Given the description of an element on the screen output the (x, y) to click on. 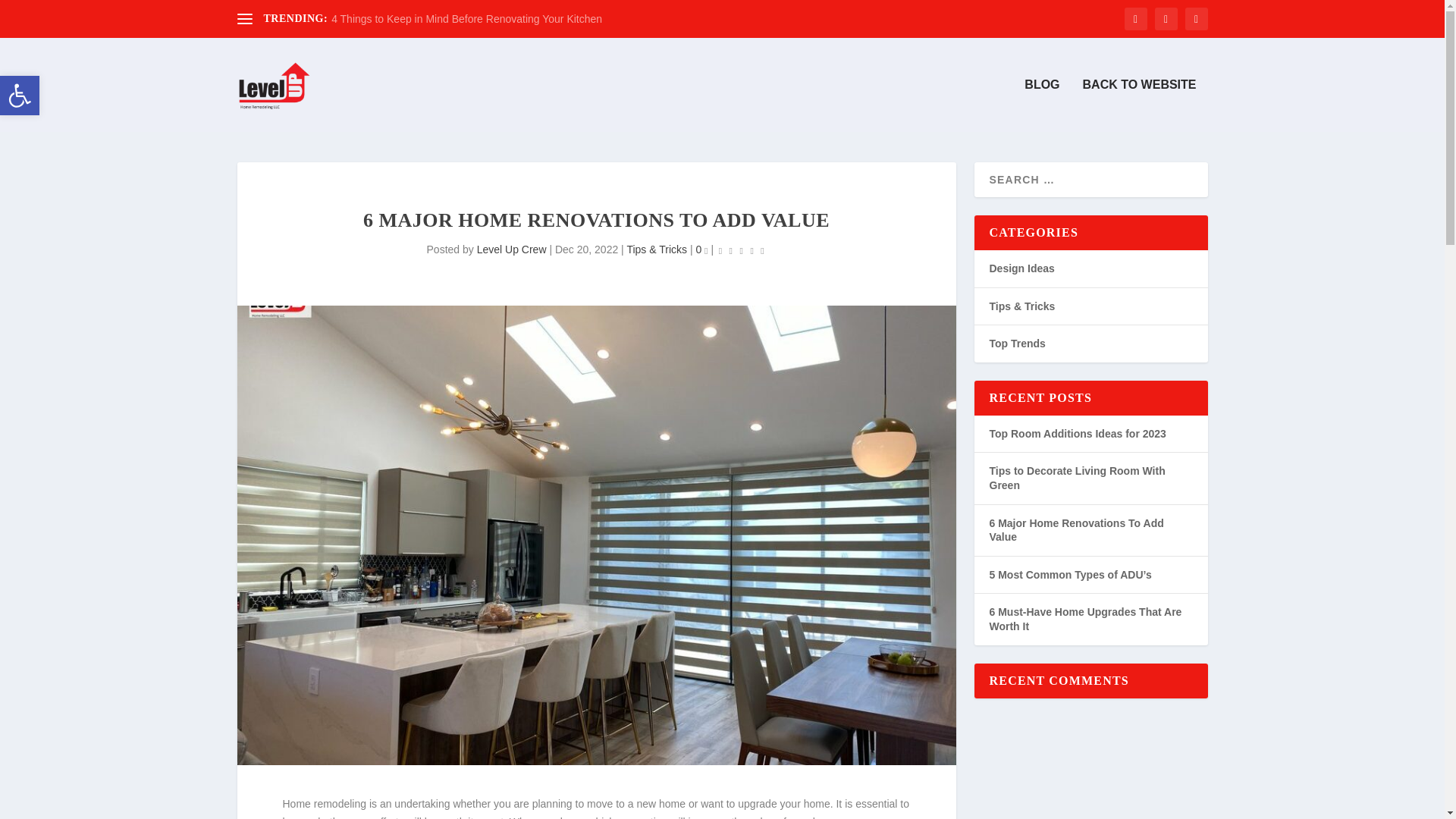
4 Things to Keep in Mind Before Renovating Your Kitchen (466, 19)
0 (701, 249)
Open toolbar (19, 95)
Posts by Level Up Crew (512, 249)
Accessibility Tools (19, 95)
Rating: 0.00 (741, 250)
Level Up Crew (512, 249)
BACK TO WEBSITE (1139, 104)
